Given the description of an element on the screen output the (x, y) to click on. 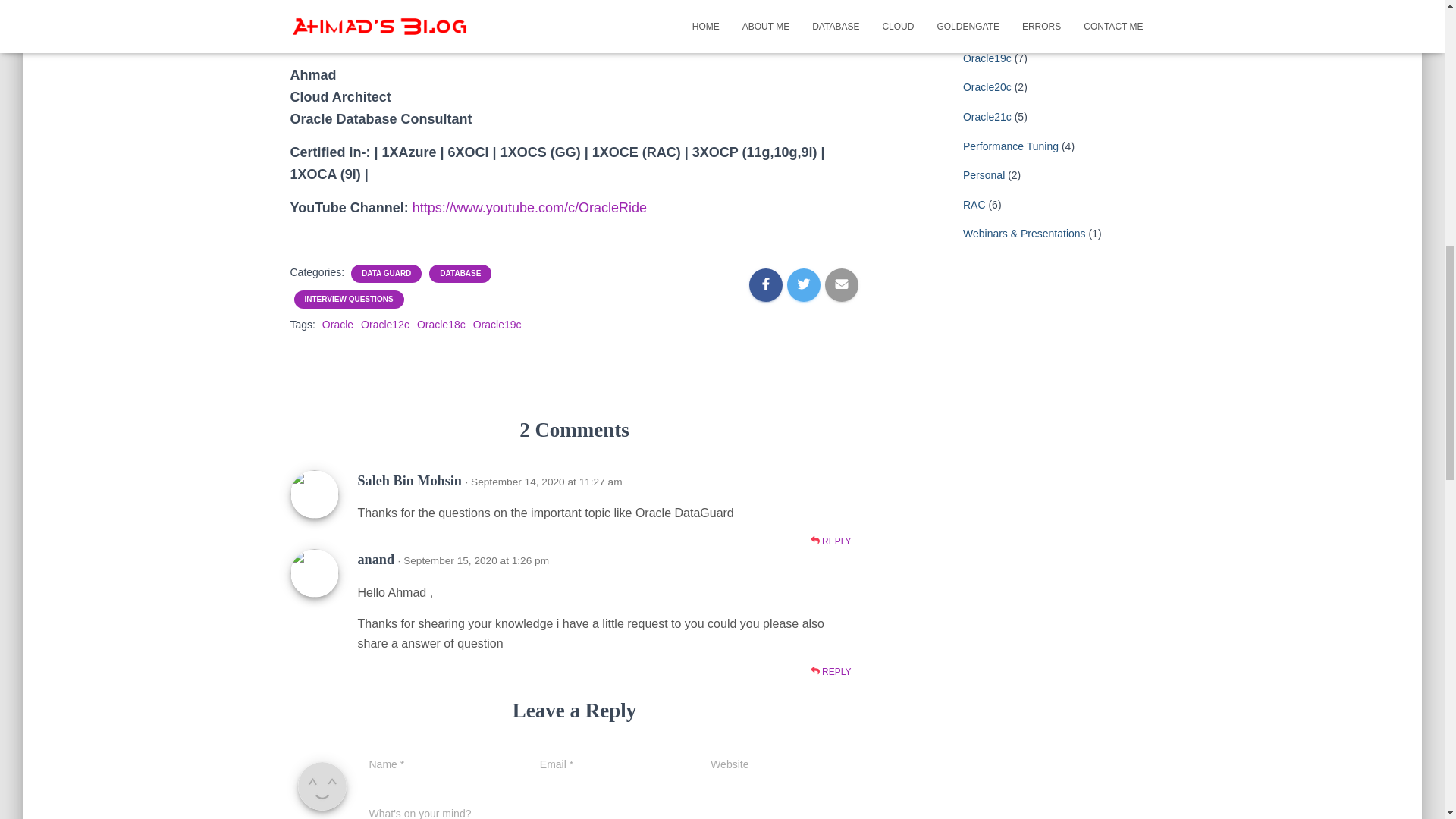
Oracle19c (497, 324)
REPLY (830, 671)
DATA GUARD (385, 273)
DATABASE (459, 273)
Oracle (337, 324)
Oracle 23AI (990, 2)
INTERVIEW QUESTIONS (348, 299)
Oracle18c (440, 324)
Oracle12c (385, 324)
REPLY (830, 541)
